Given the description of an element on the screen output the (x, y) to click on. 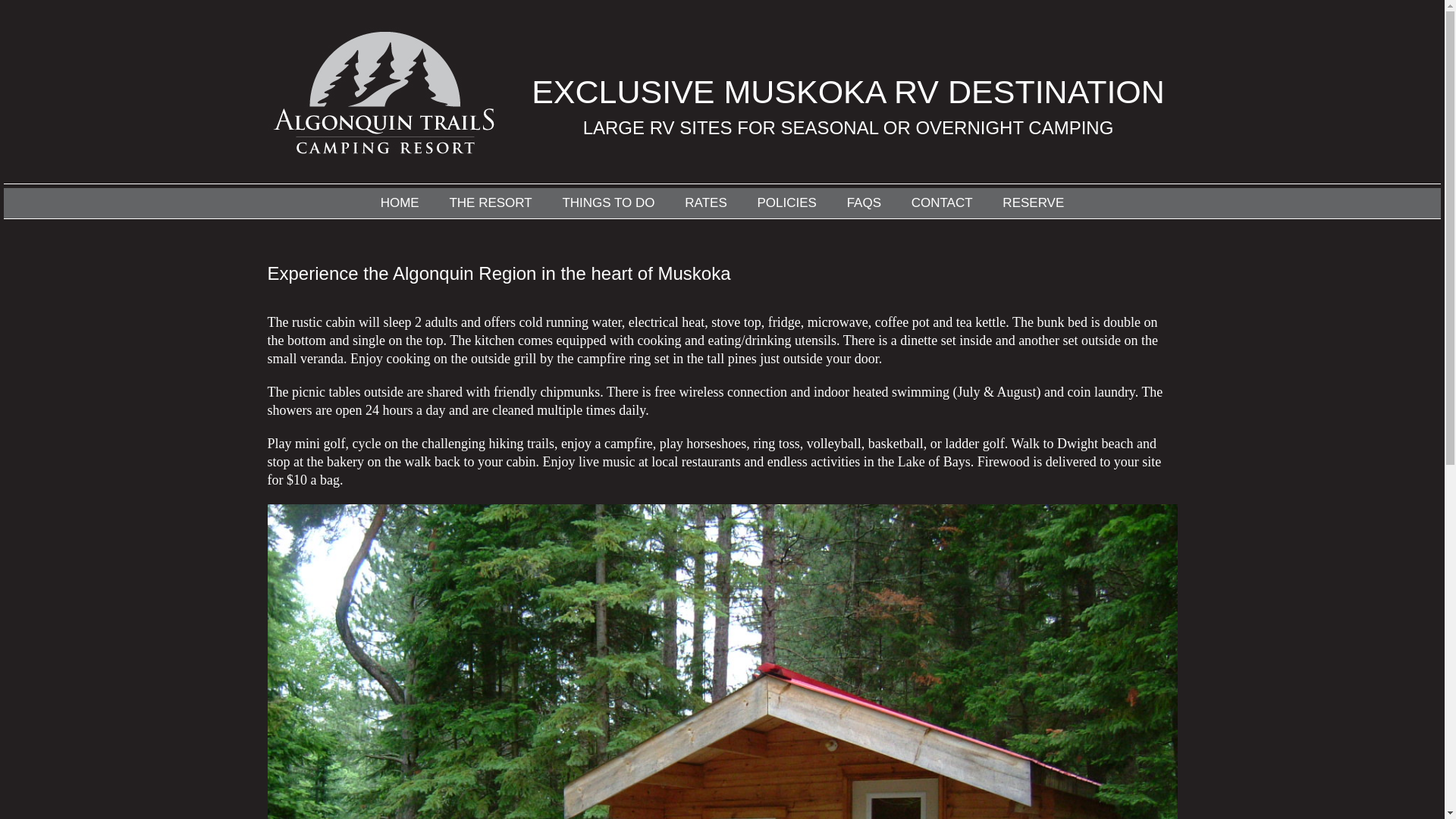
RESERVE Element type: text (1032, 203)
POLICIES Element type: text (785, 203)
THINGS TO DO Element type: text (607, 203)
THE RESORT Element type: text (489, 203)
CONTACT Element type: text (941, 203)
RATES Element type: text (705, 203)
HOME Element type: text (399, 203)
FAQS Element type: text (864, 203)
